Given the description of an element on the screen output the (x, y) to click on. 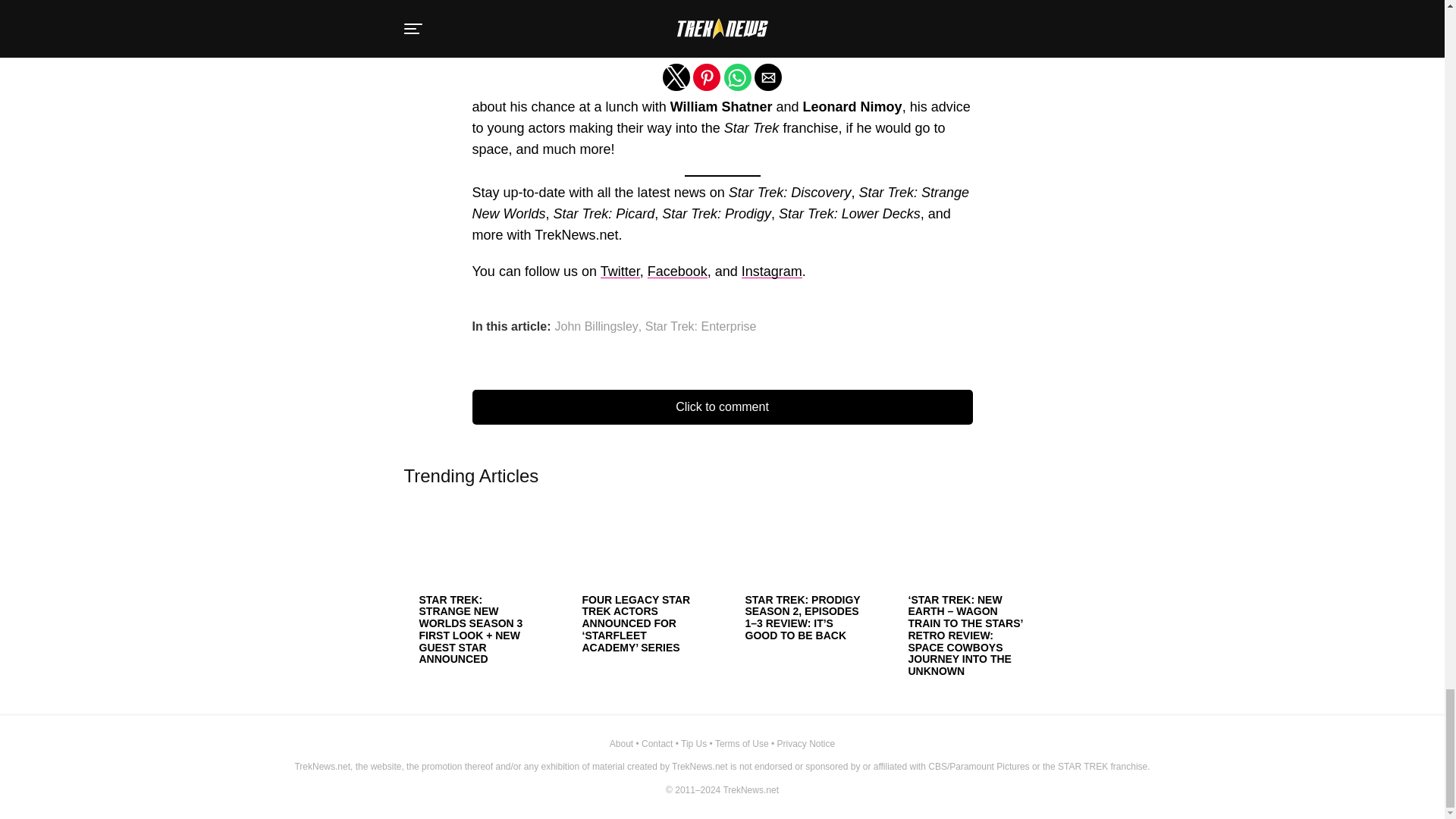
Star Trek: Enterprise (701, 326)
Privacy Notice (805, 743)
Tip Us (693, 743)
Facebook (677, 271)
Contact (657, 743)
Instagram (771, 271)
John Billingsley (596, 326)
Twitter (619, 271)
About (621, 743)
Terms of Use (741, 743)
